Given the description of an element on the screen output the (x, y) to click on. 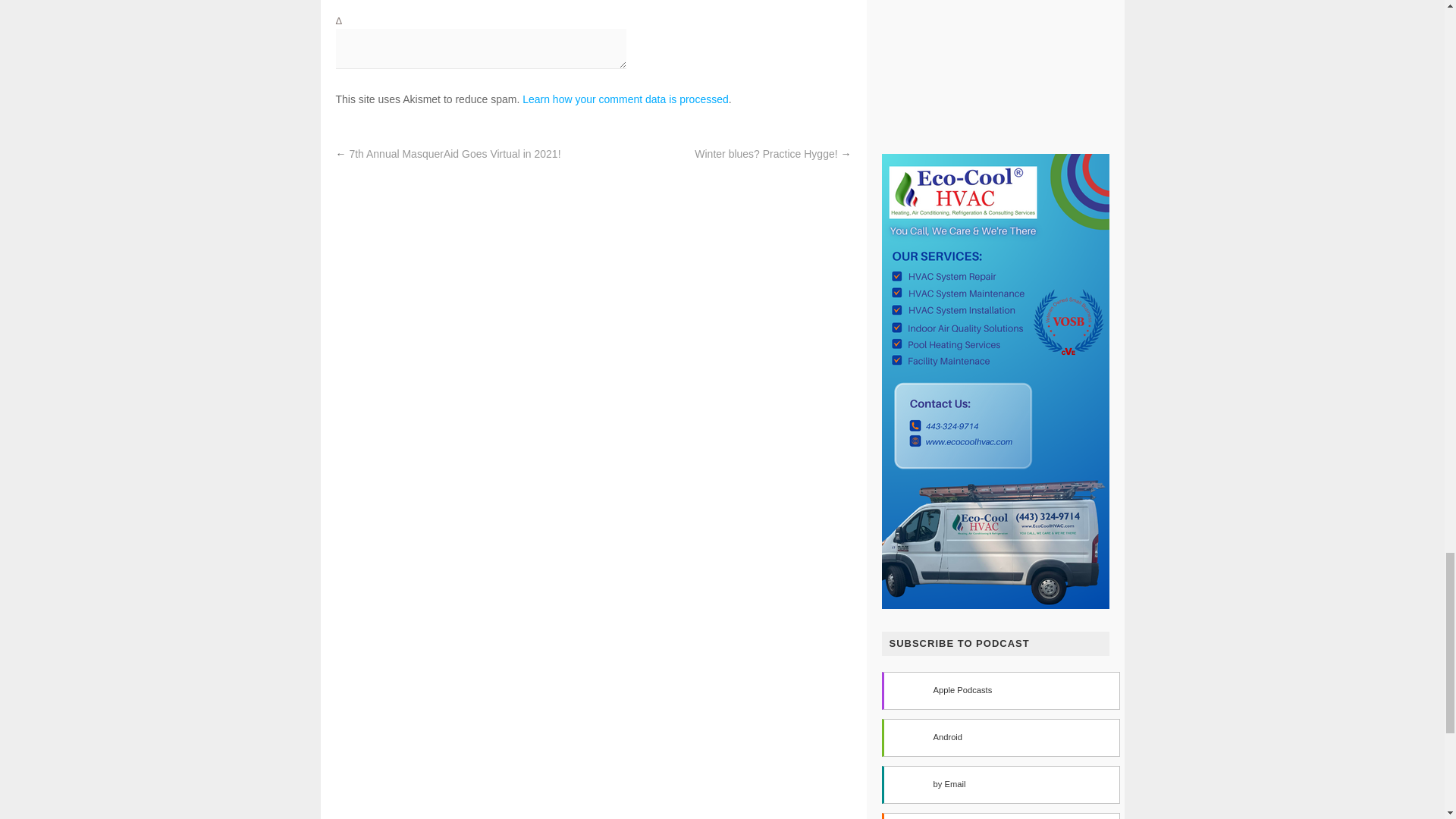
Subscribe on Android (999, 737)
Subscribe by Email (999, 784)
Subscribe via RSS (999, 816)
Subscribe on Apple Podcasts (999, 690)
